Given the description of an element on the screen output the (x, y) to click on. 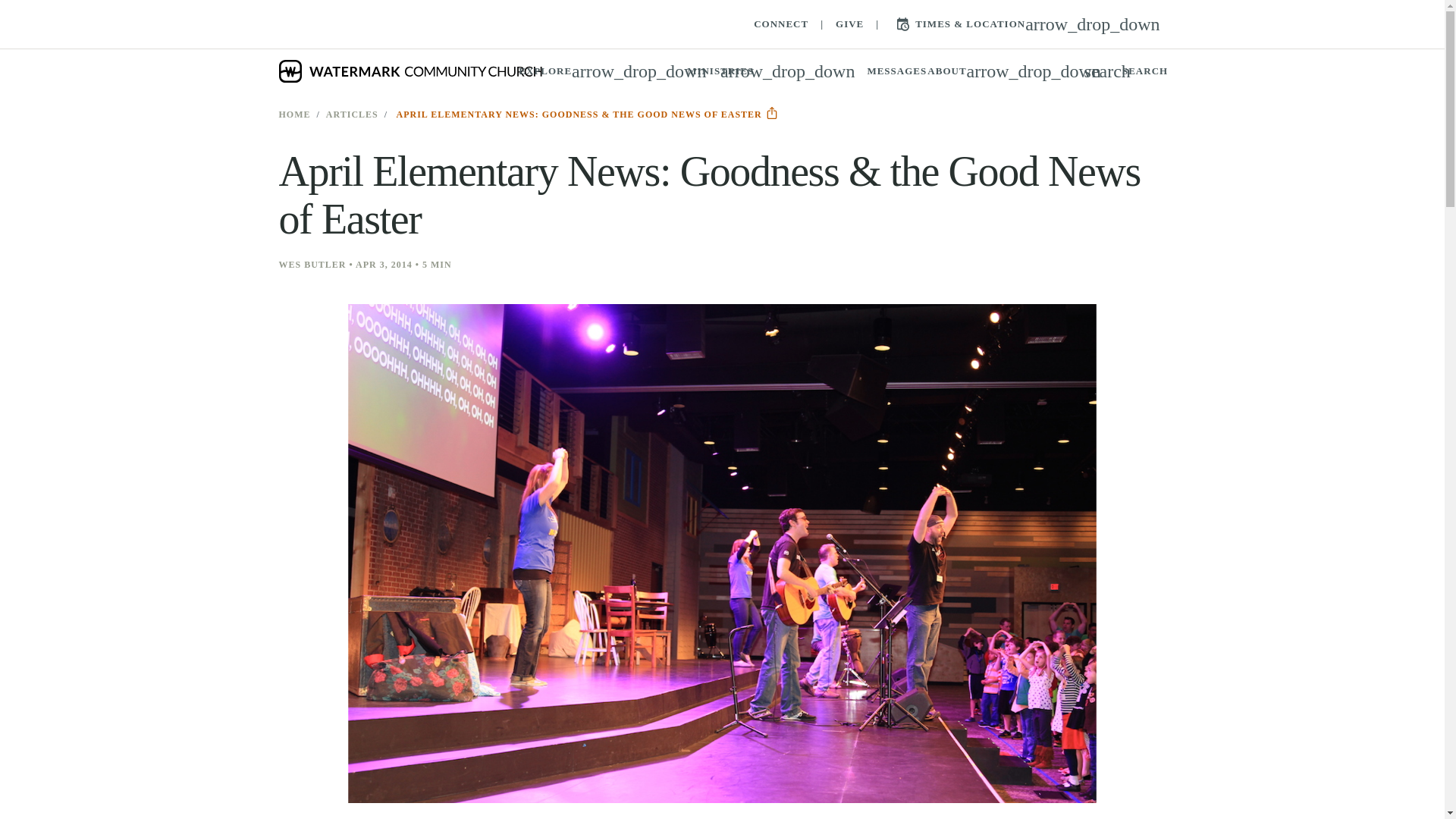
CONNECT (780, 23)
MESSAGES (890, 71)
MINISTRIES (770, 71)
EXPLORE (1122, 71)
ABOUT (596, 71)
unselected-campus (999, 71)
unselected-campus (389, 70)
GIVE (472, 70)
